Given the description of an element on the screen output the (x, y) to click on. 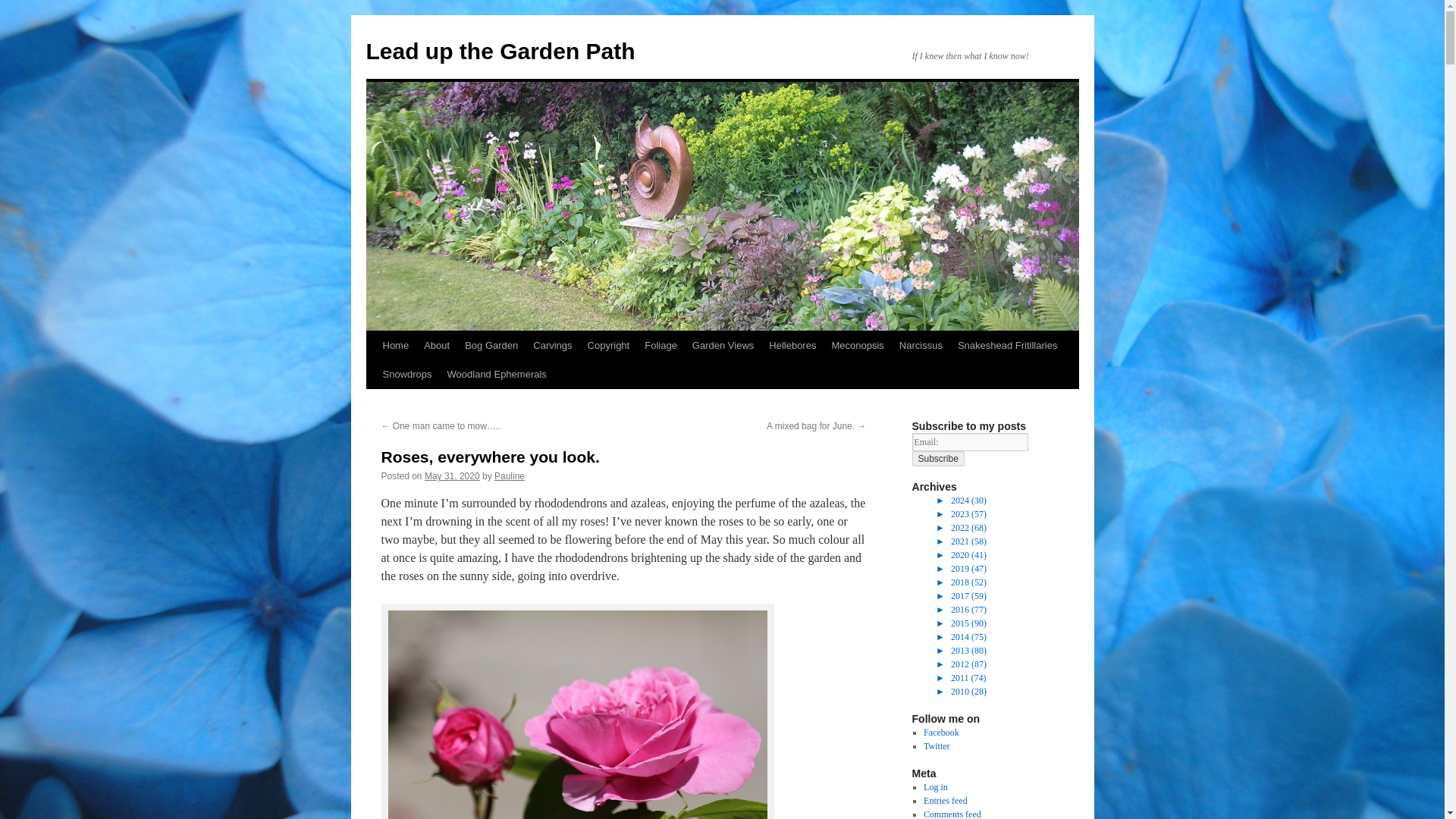
Woodland Ephemerals (496, 374)
Foliage (660, 345)
Snakeshead Fritillaries (1007, 345)
Garden Views (722, 345)
Hellebores (792, 345)
Lead up the Garden Path (499, 50)
Meconopsis (857, 345)
Home (395, 345)
Narcissus (920, 345)
May 31, 2020 (452, 475)
Bog Garden (491, 345)
Pauline (509, 475)
About (436, 345)
View all posts by Pauline (509, 475)
2023 (961, 513)
